Given the description of an element on the screen output the (x, y) to click on. 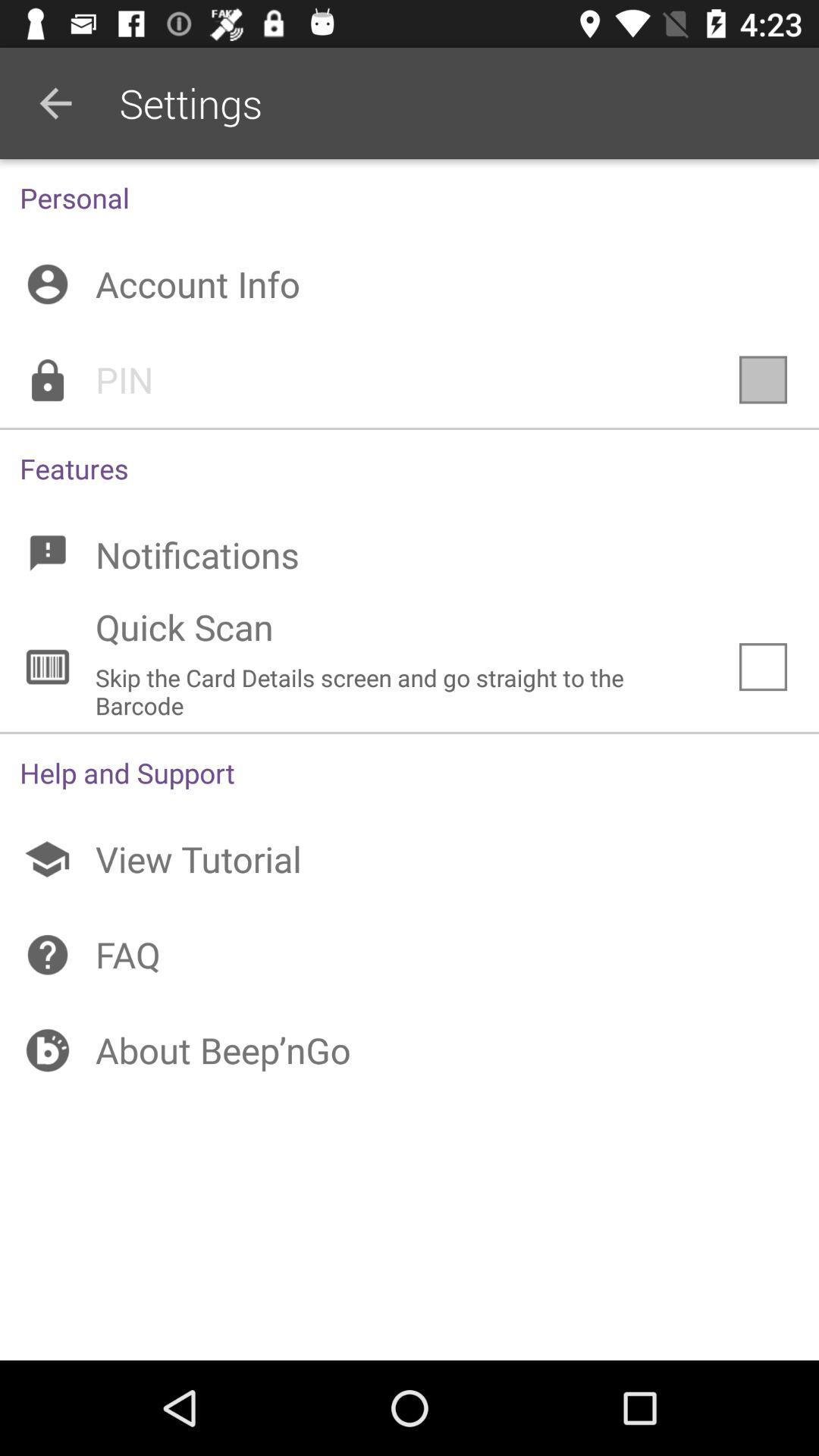
choose account info icon (409, 284)
